Given the description of an element on the screen output the (x, y) to click on. 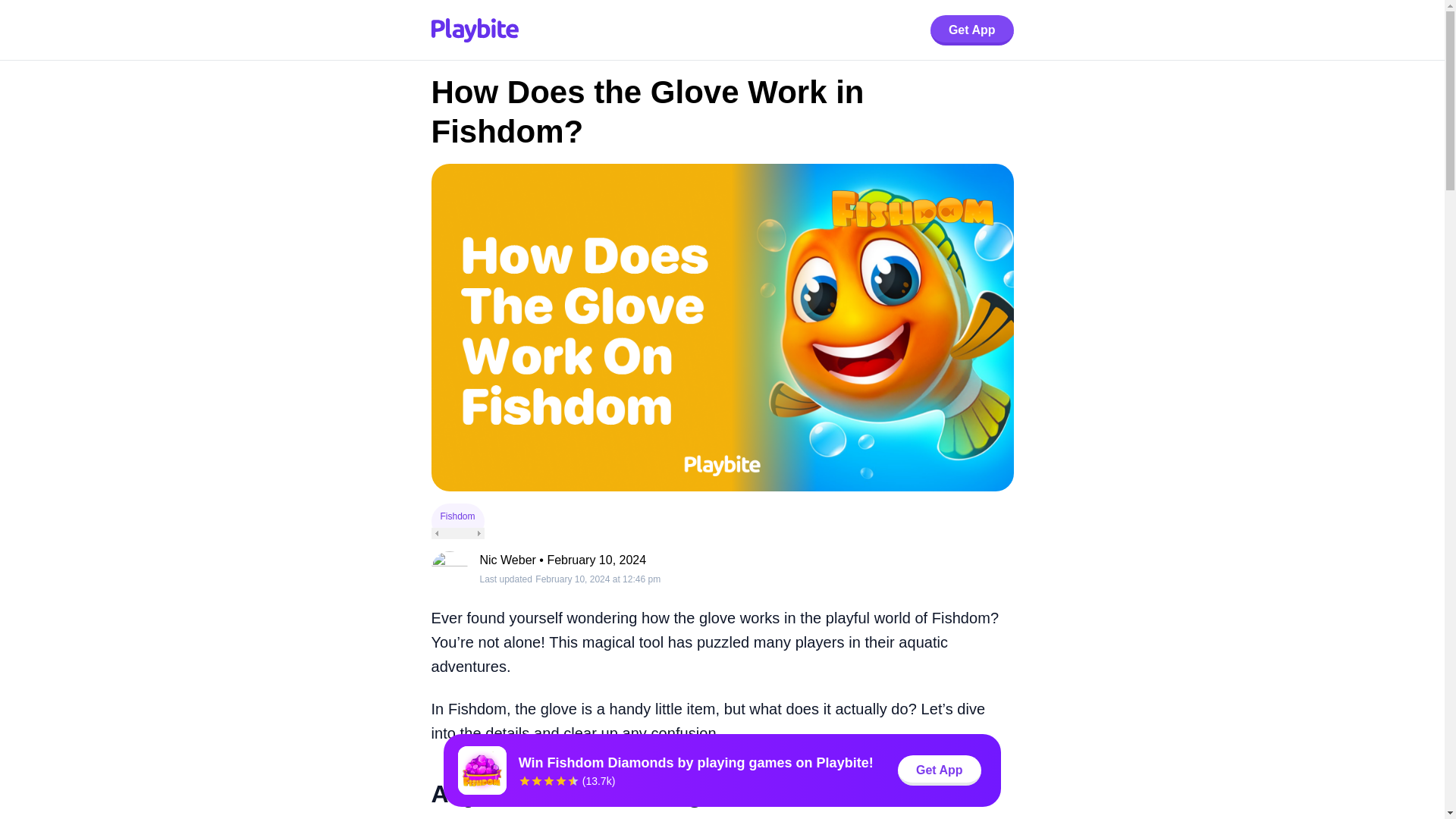
Get App (971, 30)
Fishdom (456, 516)
Nic Weber (507, 559)
Get App (971, 29)
Get App (939, 770)
Fishdom (456, 520)
